Given the description of an element on the screen output the (x, y) to click on. 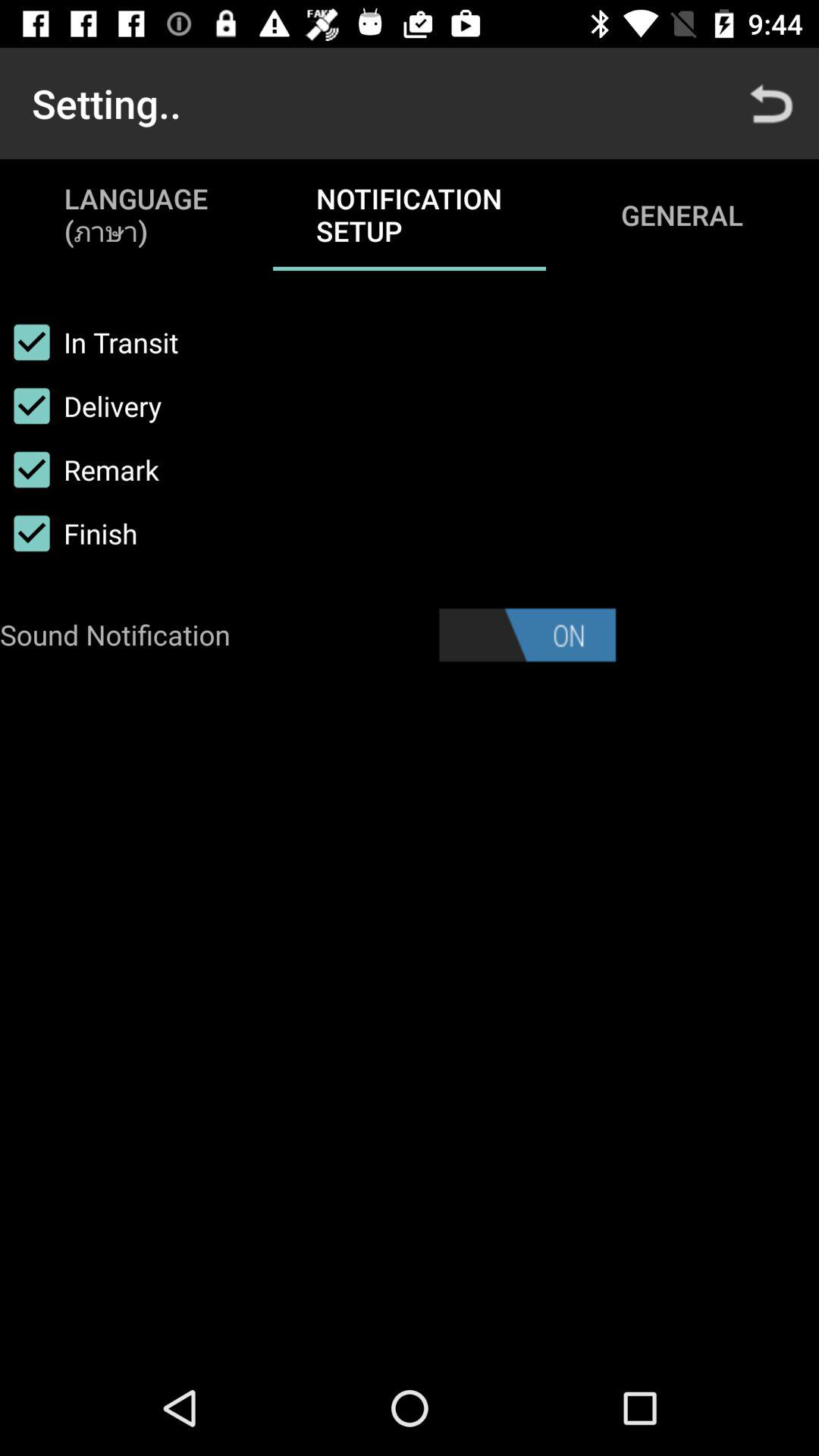
launch the in transit checkbox (89, 342)
